Given the description of an element on the screen output the (x, y) to click on. 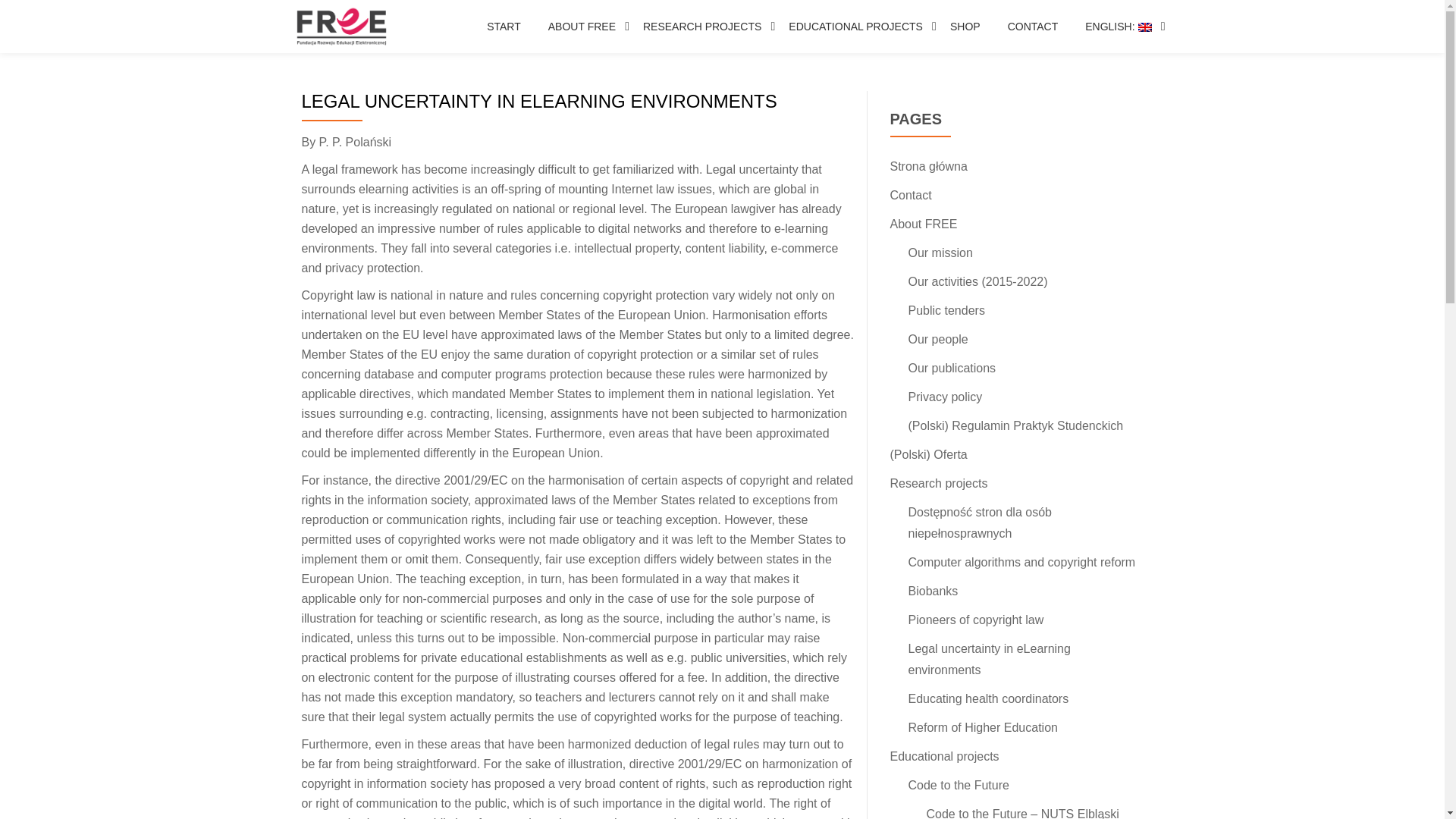
Fundacja Rozwoju Edukacji Elektronicznej (343, 26)
SHOP (964, 26)
EDUCATIONAL PROJECTS (856, 26)
CONTACT (1032, 26)
ABOUT FREE (581, 26)
English (1117, 26)
START (503, 26)
RESEARCH PROJECTS (702, 26)
